Given the description of an element on the screen output the (x, y) to click on. 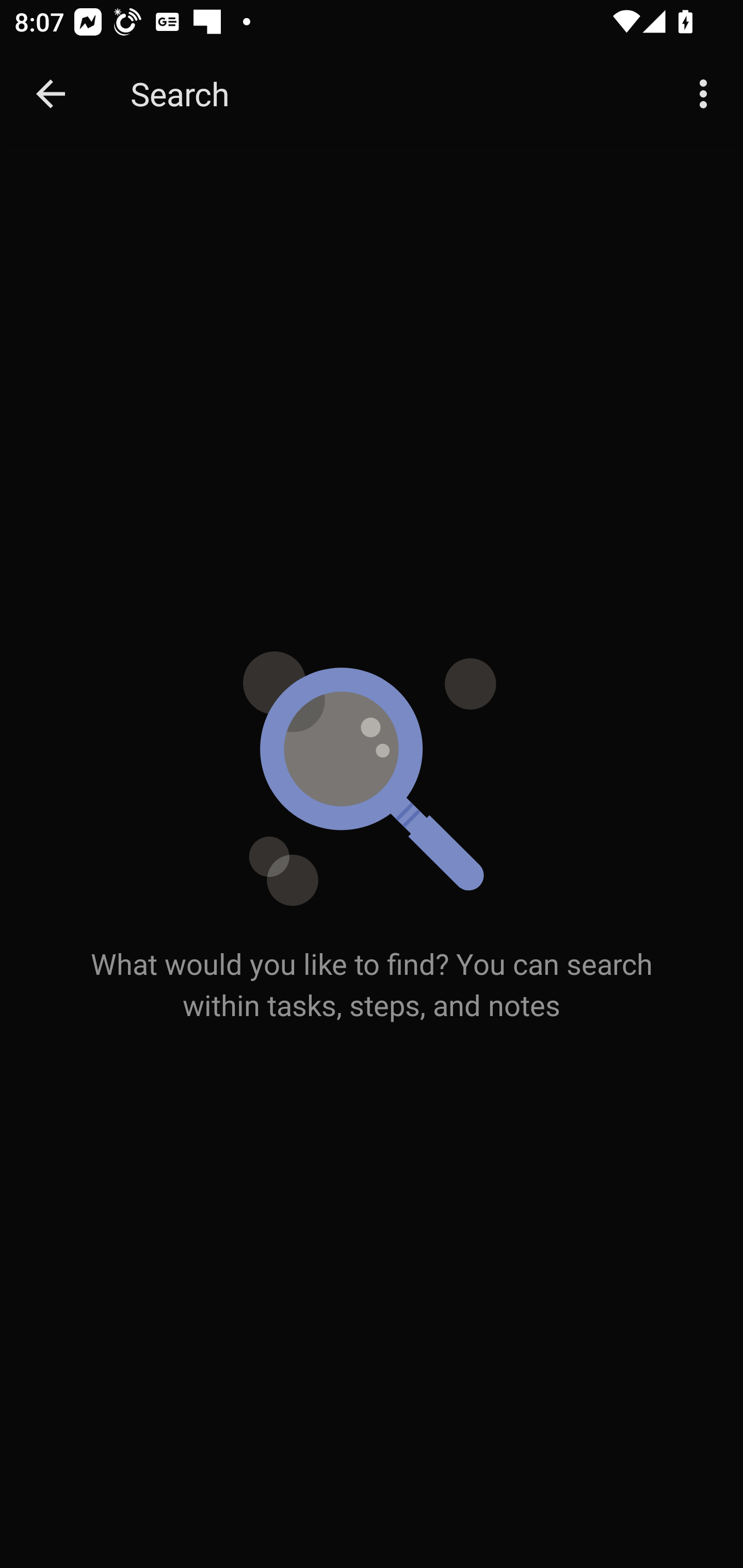
Navigate up (50, 93)
More options (706, 93)
Search (393, 94)
